Given the description of an element on the screen output the (x, y) to click on. 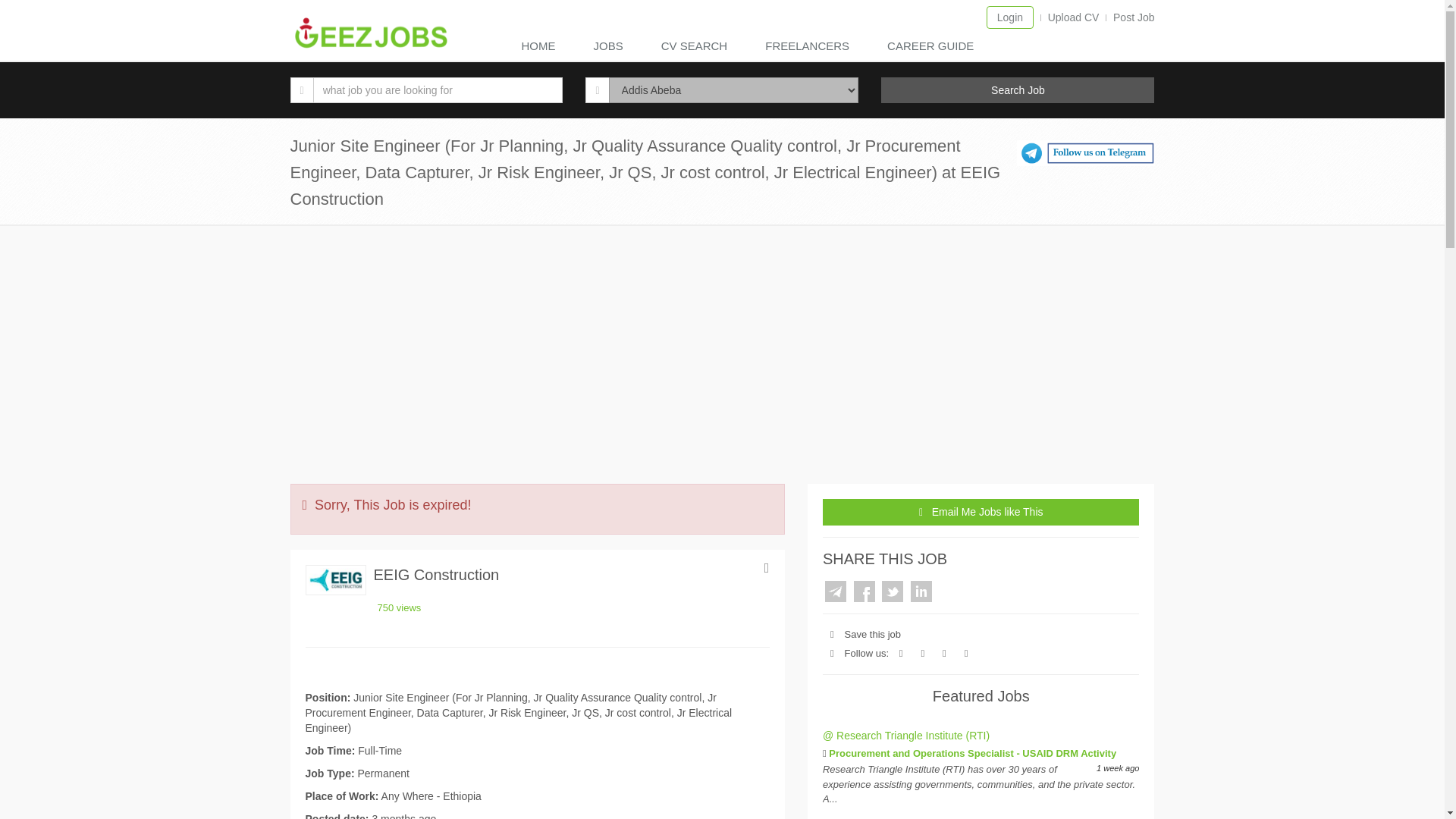
HOME (542, 46)
Login (1010, 16)
Post Job (1133, 17)
GeezJobs (369, 34)
CV SEARCH (698, 46)
Upload CV (1073, 17)
JOBS (611, 46)
Linkedin (921, 590)
   Email Me Jobs like This (981, 511)
Save this job (872, 633)
Procurement and Operations Specialist - USAID DRM Activity (972, 753)
CAREER GUIDE (933, 46)
FREELANCERS (810, 46)
Facebook (864, 590)
